Given the description of an element on the screen output the (x, y) to click on. 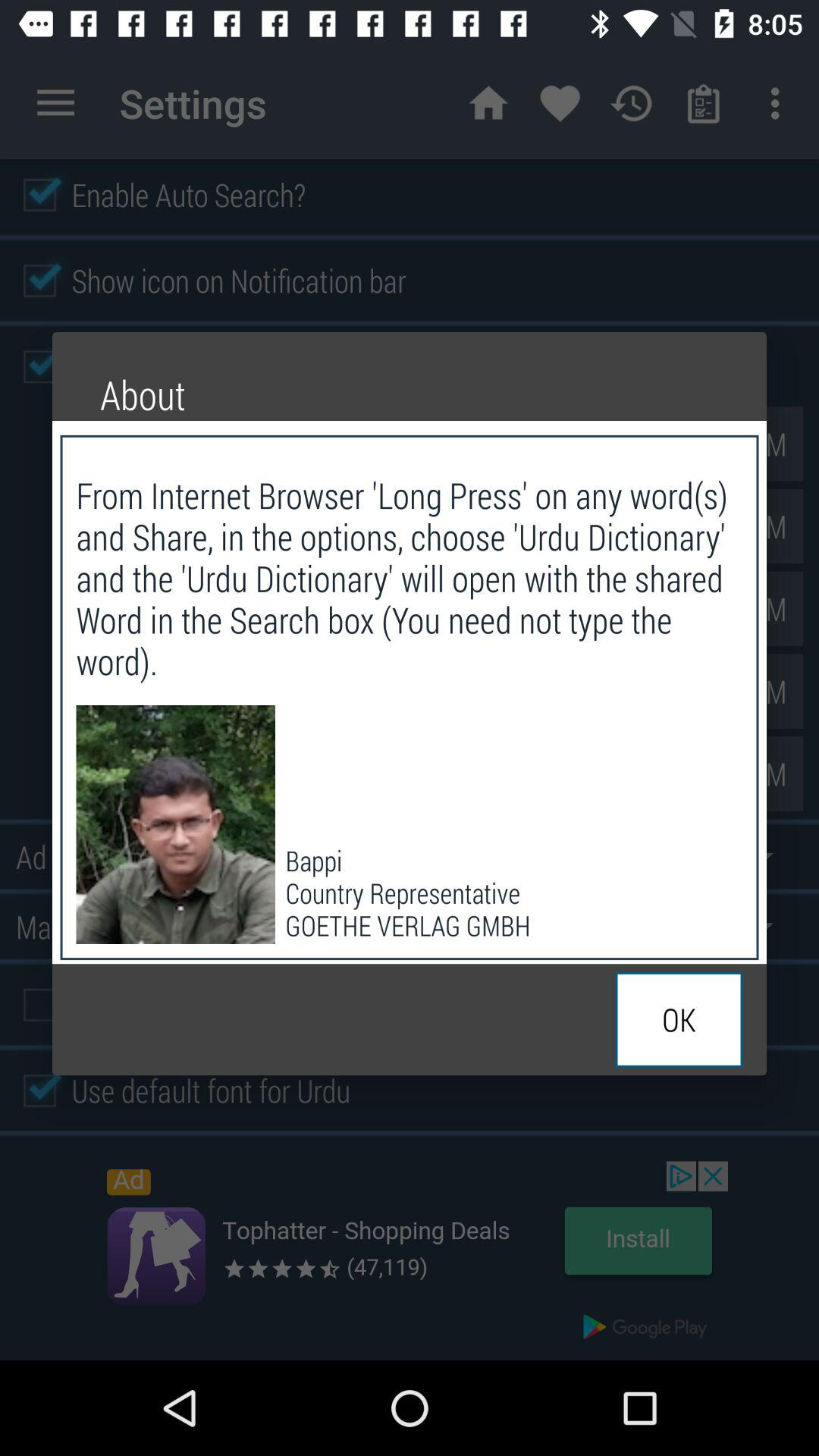
open ok item (678, 1019)
